Given the description of an element on the screen output the (x, y) to click on. 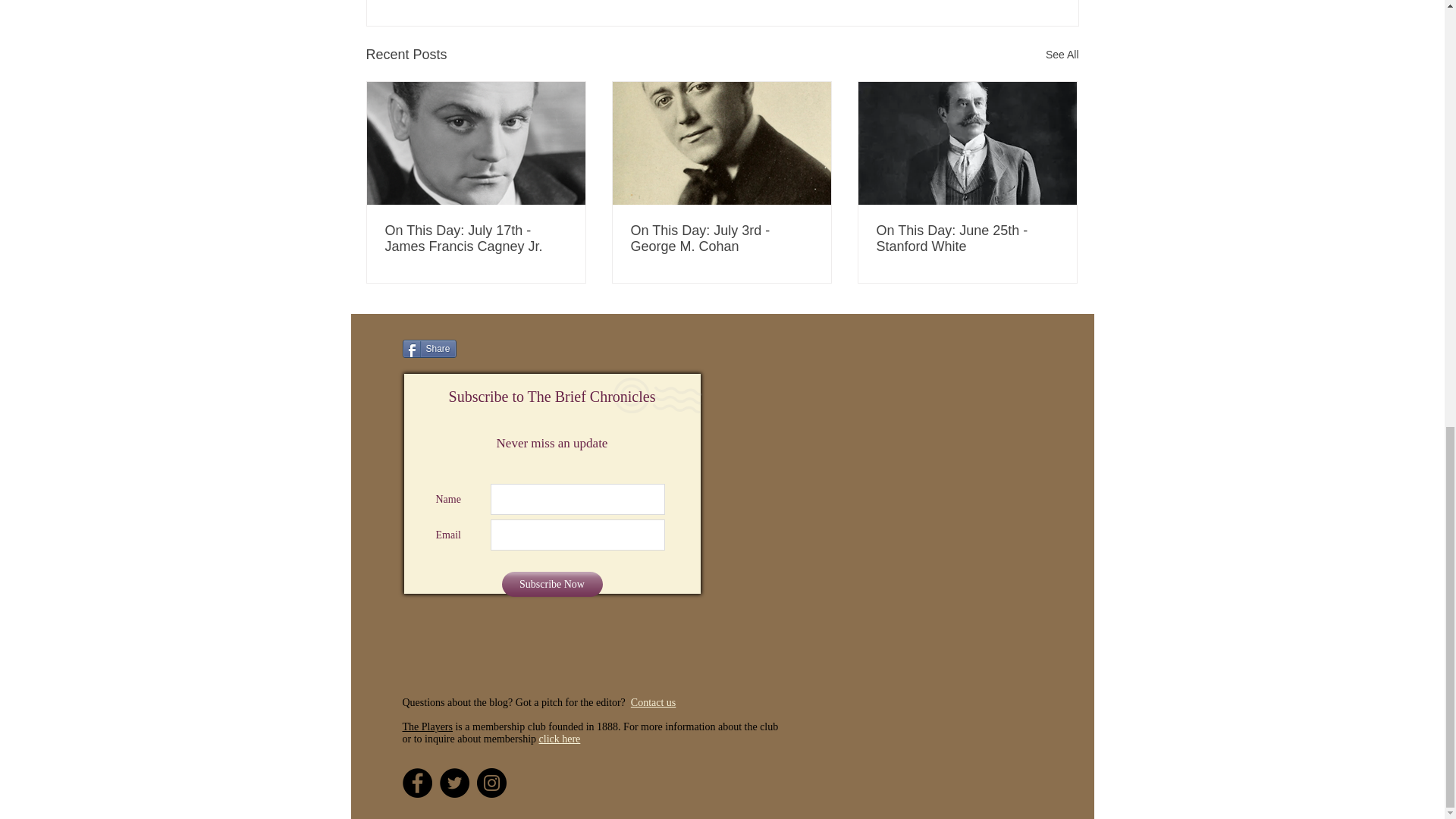
On This Day: July 3rd - George M. Cohan (721, 238)
Subscribe Now (552, 584)
The Players (426, 726)
Contact us (653, 702)
click here (559, 738)
Share (428, 348)
Share (428, 348)
See All (1061, 55)
On This Day: July 17th - James Francis Cagney Jr. (476, 238)
On This Day: June 25th - Stanford White (967, 238)
